Given the description of an element on the screen output the (x, y) to click on. 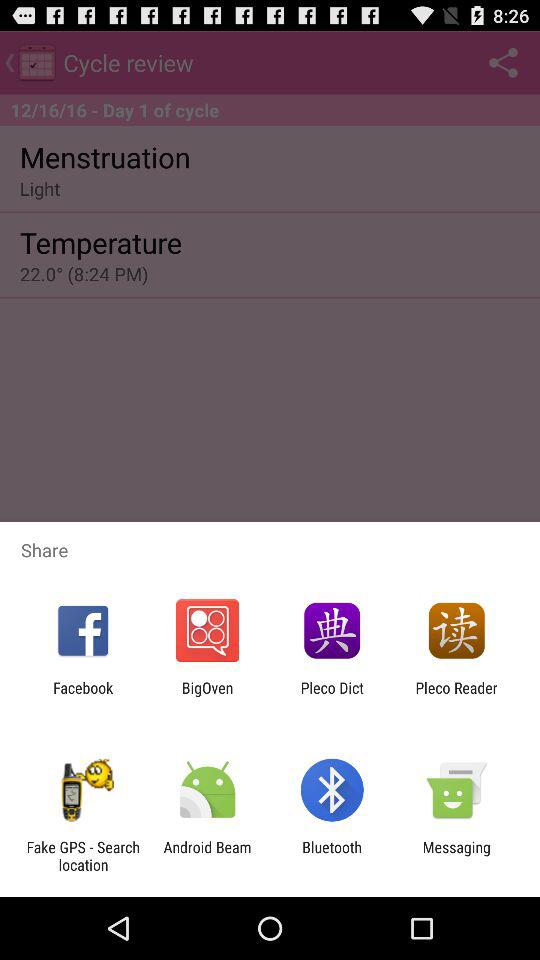
launch icon next to the pleco dict (456, 696)
